Given the description of an element on the screen output the (x, y) to click on. 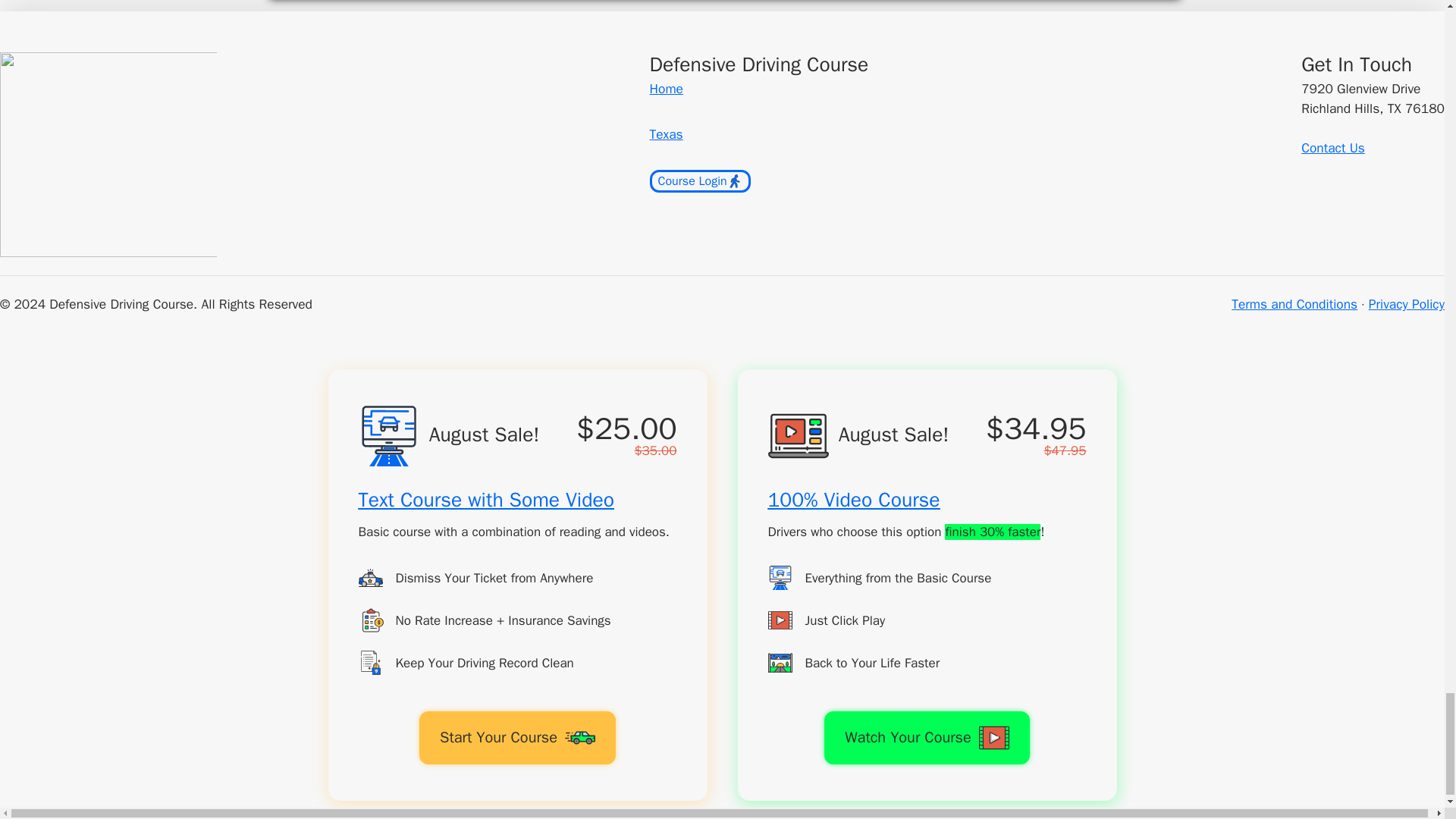
Home (665, 88)
Text Course with Some Video (485, 499)
Contact Us (1333, 147)
Watch Your Course (926, 737)
Terms and Conditions (1293, 303)
Privacy Policy (1406, 303)
Course Login (700, 180)
Texas (665, 134)
Start Your Course (517, 737)
